Given the description of an element on the screen output the (x, y) to click on. 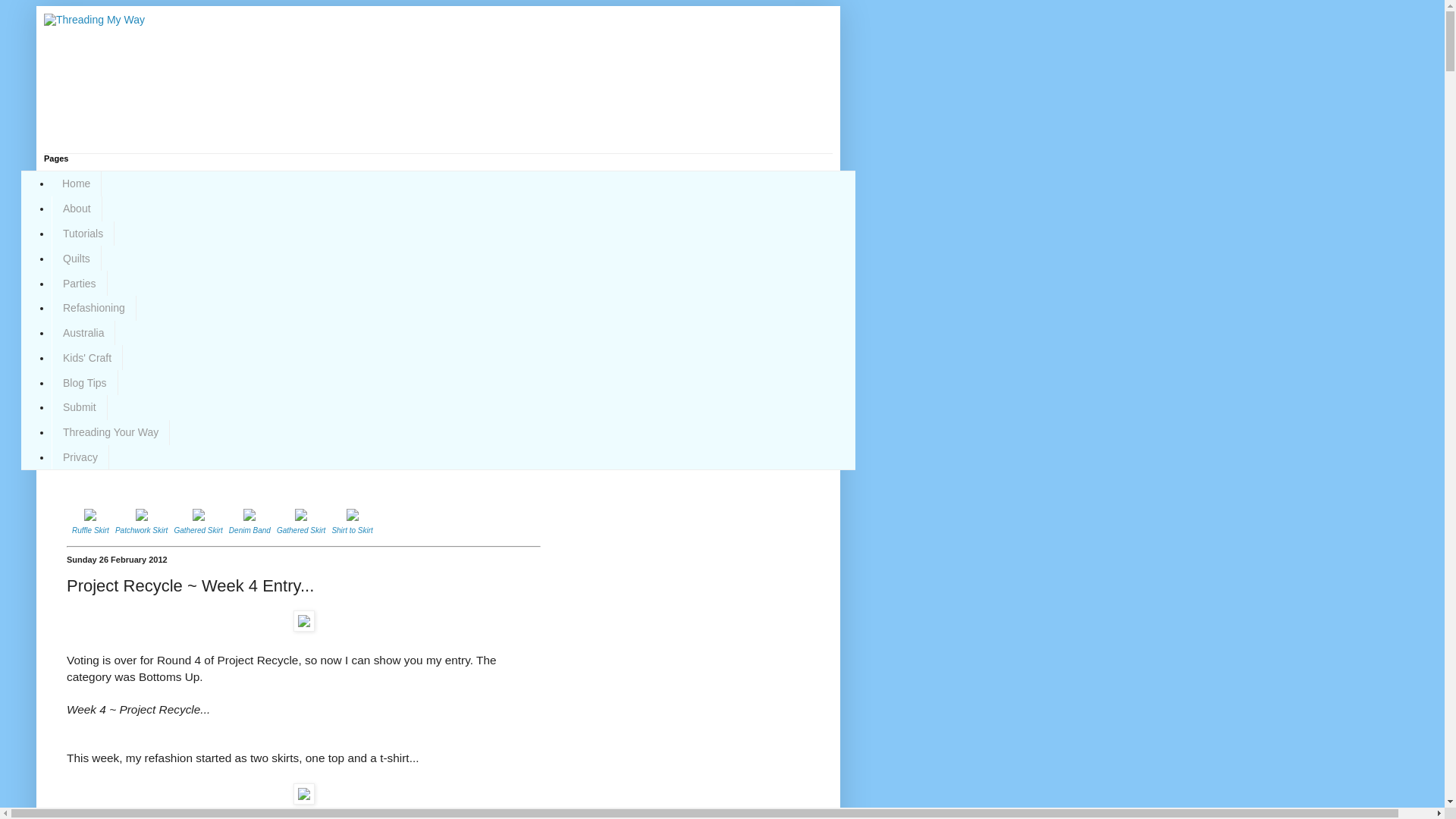
Gathered Skirt (197, 530)
Denim Band (249, 530)
Privacy (79, 457)
Quilts (75, 258)
Australia (82, 333)
About (75, 208)
Kids' Craft (86, 357)
Threading Your Way (110, 432)
Patchwork Skirt (141, 530)
Refashioning (93, 308)
Ruffle Skirt (90, 530)
Gathered Skirt (300, 530)
Blog Tips (83, 382)
Parties (78, 283)
Home (75, 183)
